Given the description of an element on the screen output the (x, y) to click on. 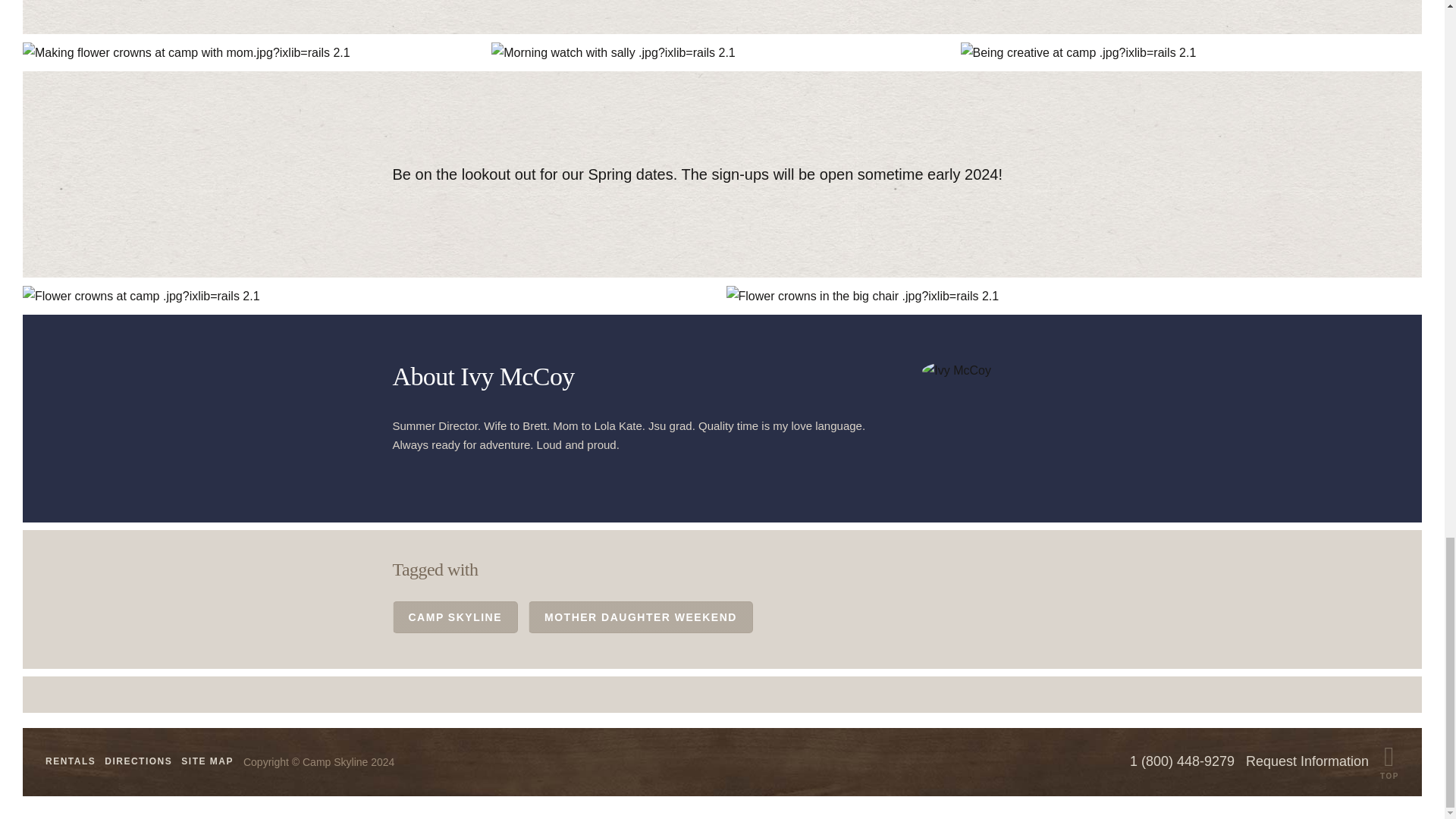
DIRECTIONS (137, 761)
MOTHER DAUGHTER WEEKEND (640, 617)
RENTALS (69, 761)
SITE MAP (206, 761)
Request Information (1307, 761)
CAMP SKYLINE (455, 617)
